Given the description of an element on the screen output the (x, y) to click on. 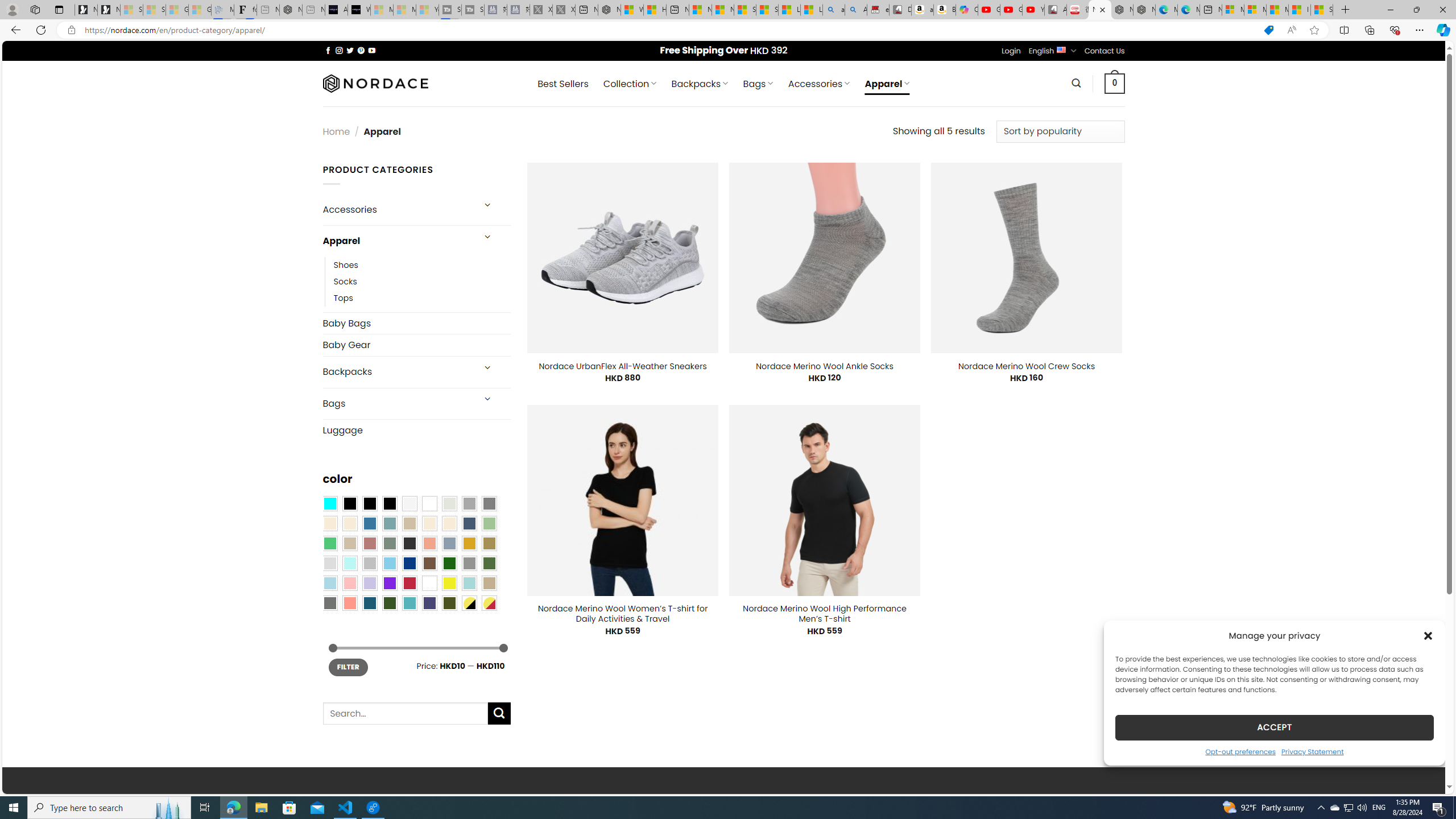
Shoes (422, 264)
Dark Green (449, 562)
Brownie (408, 522)
Backpacks (397, 372)
Light Blue (329, 582)
Luggage (416, 430)
Dull Nickle (329, 602)
Luggage (416, 430)
Microsoft Start Sports - Sleeping (381, 9)
English (1061, 49)
Silver (369, 562)
